Given the description of an element on the screen output the (x, y) to click on. 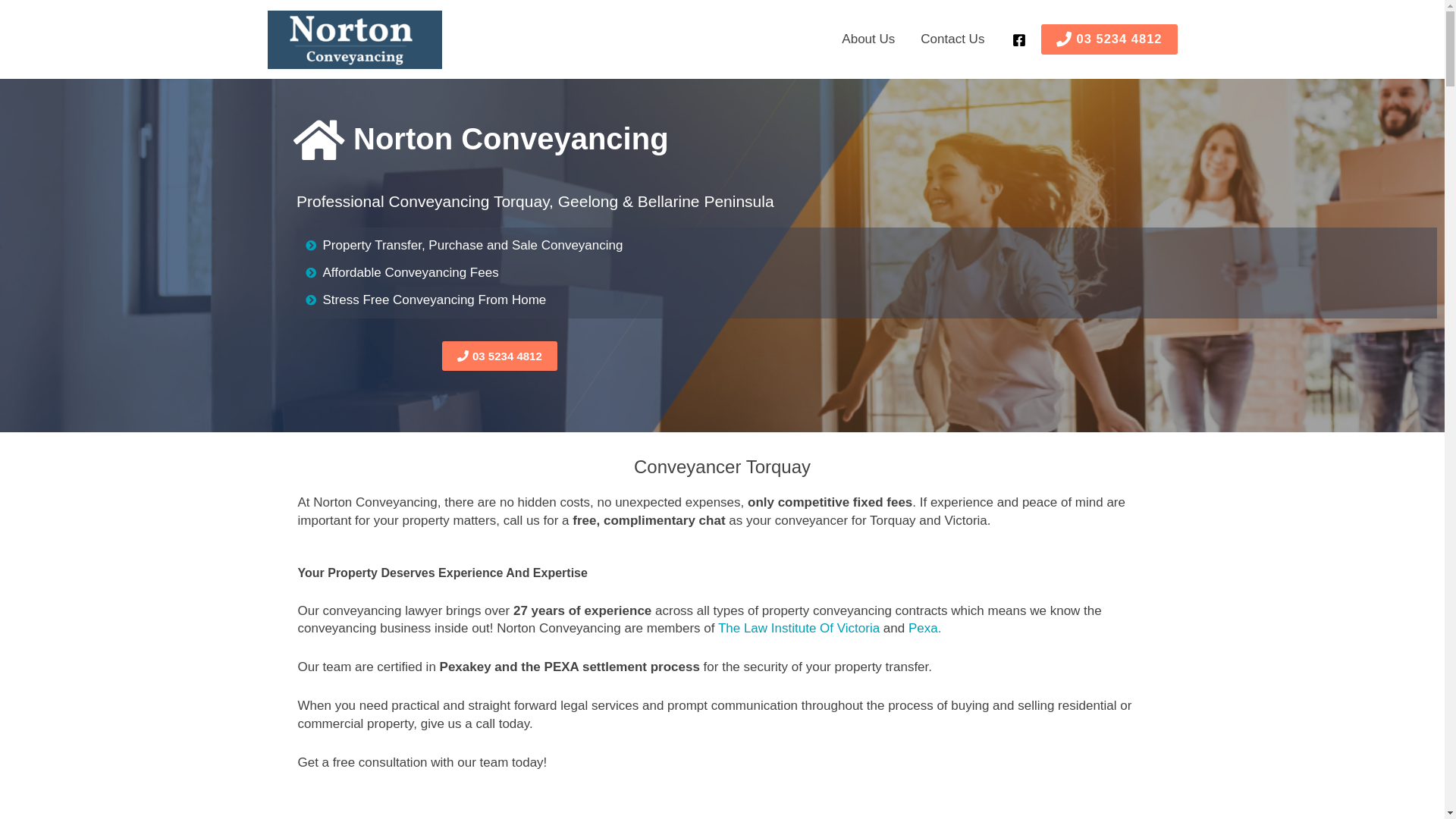
Contact Us Element type: text (952, 38)
03 5234 4812 Element type: text (499, 356)
Pexa. Element type: text (924, 628)
03 5234 4812 Element type: text (1108, 39)
The Law Institute Of Victoria Element type: text (798, 628)
03 5234 4812 Element type: text (1119, 38)
About Us Element type: text (867, 38)
